Given the description of an element on the screen output the (x, y) to click on. 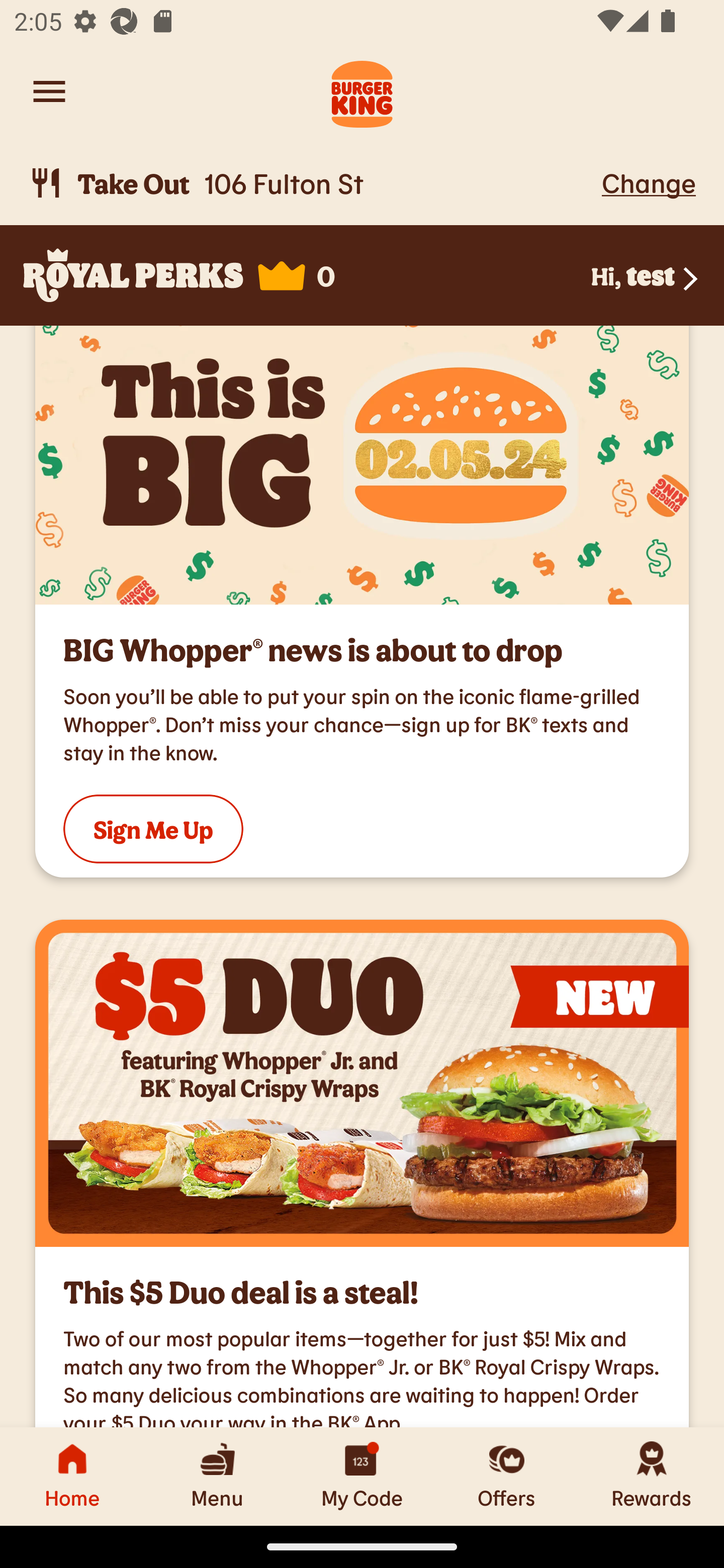
Burger King Logo. Navigate to Home (362, 91)
Navigate to account menu  (49, 91)
Take Out, 106 Fulton St  Take Out 106 Fulton St (311, 183)
Change (648, 182)
MDW Teaser Auth App (361, 465)
Sign Me Up (153, 828)
$5 Duo ft. Wraps  (361, 1083)
Home (72, 1475)
Menu (216, 1475)
My Code (361, 1475)
Offers (506, 1475)
Rewards (651, 1475)
